Given the description of an element on the screen output the (x, y) to click on. 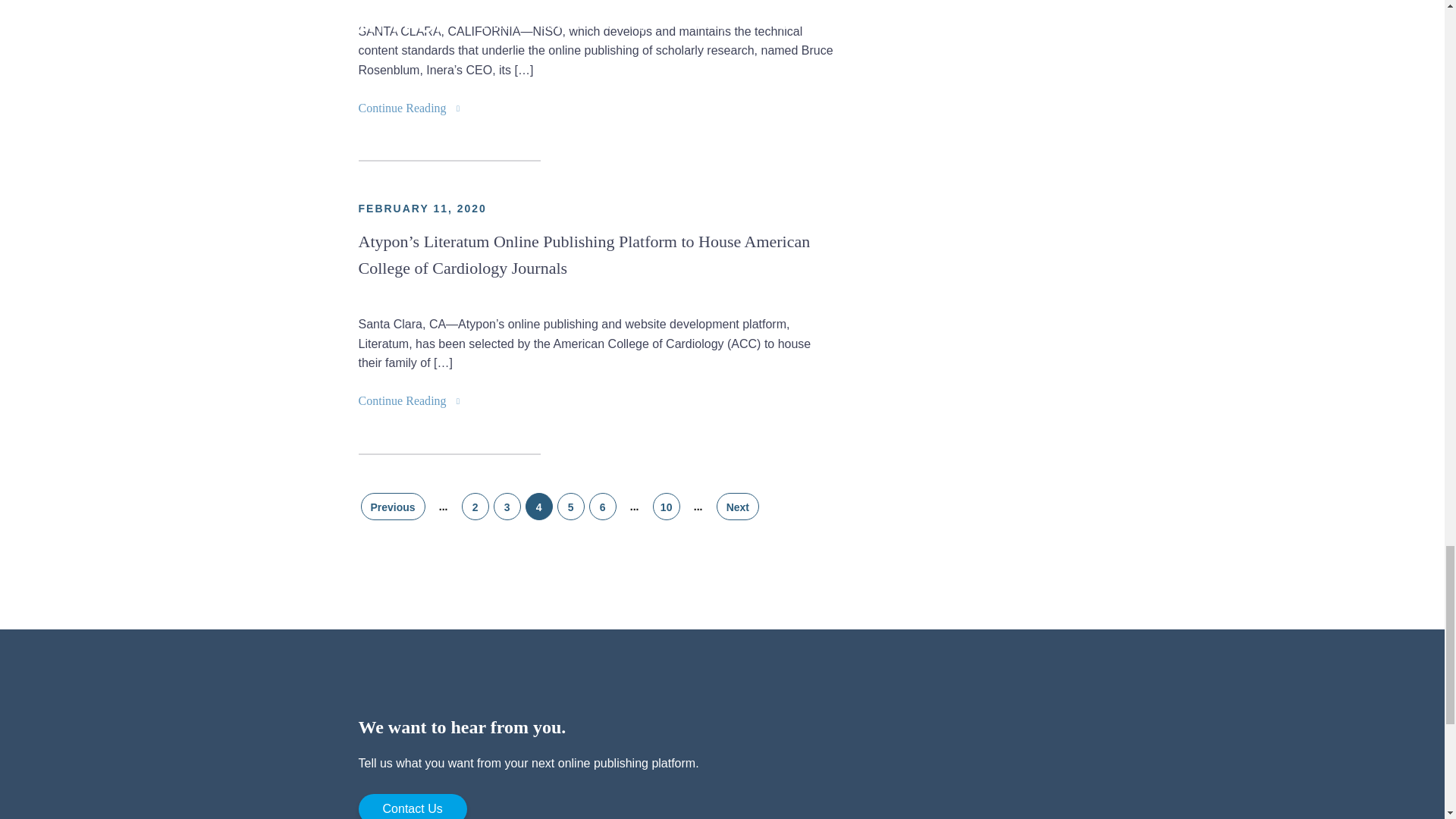
Page 3 (507, 506)
Page 2 (475, 506)
Page 5 (571, 506)
Page 10 (665, 506)
Page 6 (602, 506)
